Given the description of an element on the screen output the (x, y) to click on. 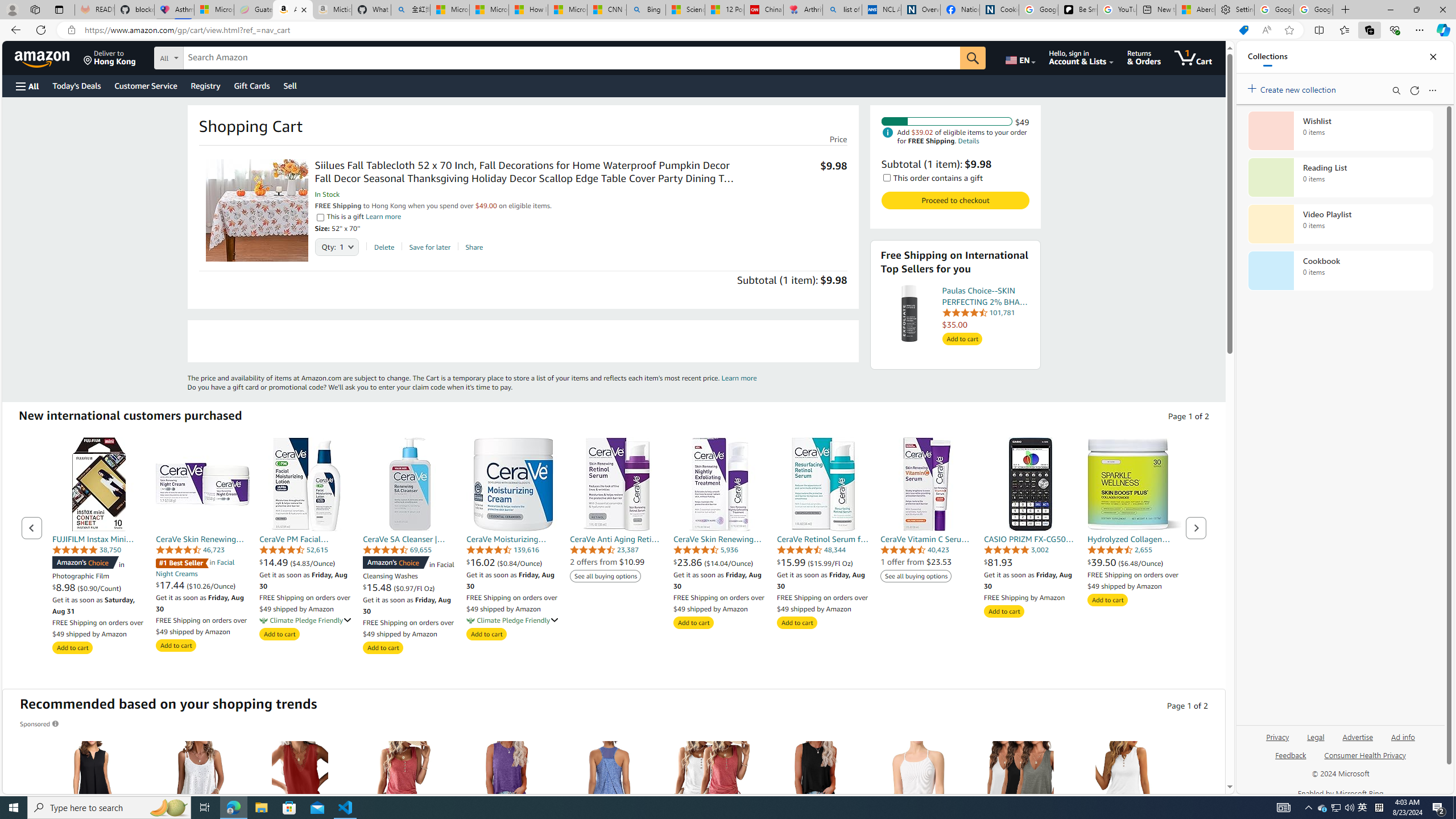
Create new collection (1293, 87)
CNN - MSN (606, 9)
Shopping Cart Learn more (738, 377)
Privacy (1277, 741)
Consumer Health Privacy (1364, 754)
